Given the description of an element on the screen output the (x, y) to click on. 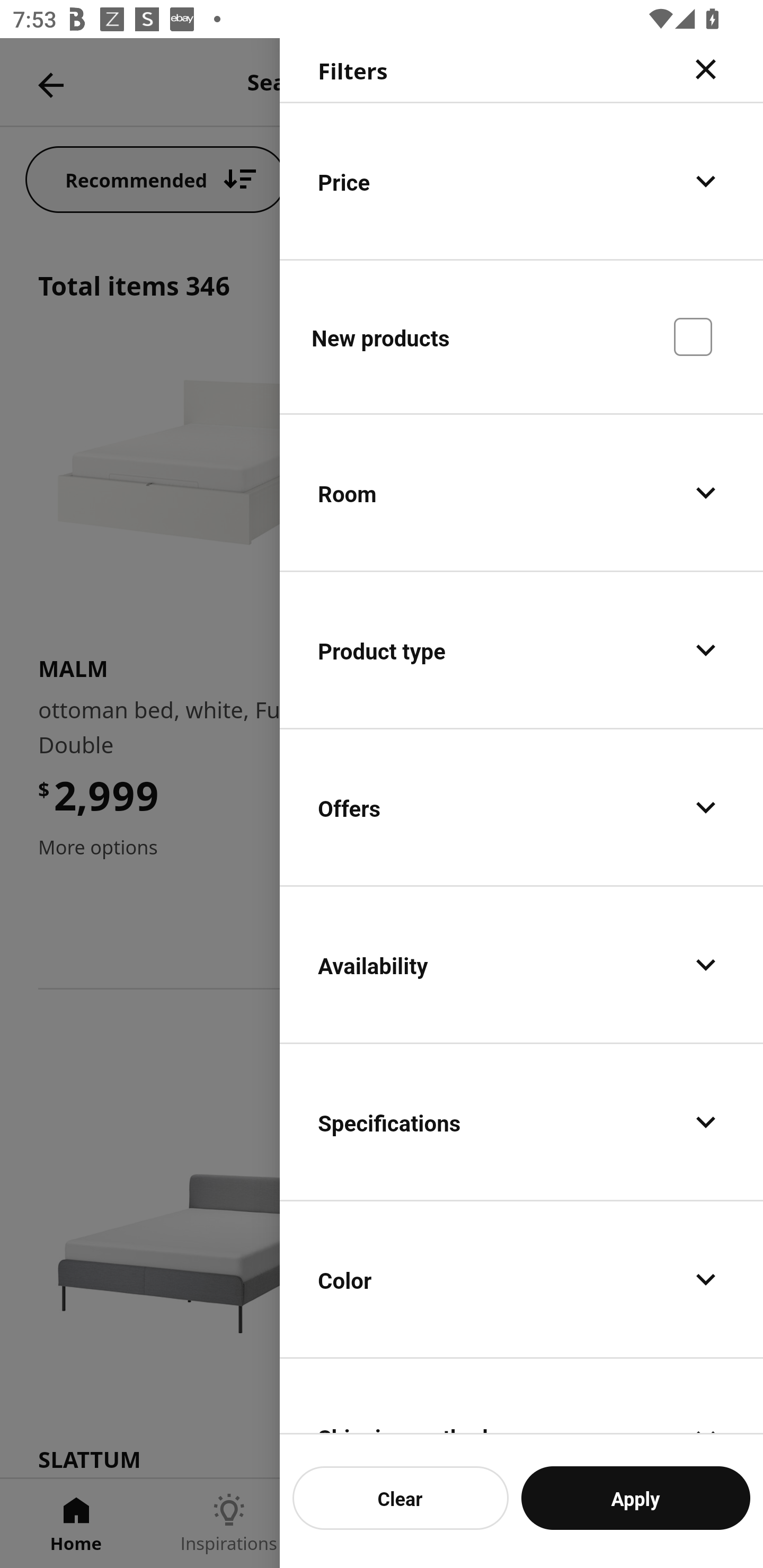
Price (521, 181)
New products (521, 335)
Room (521, 493)
Product type (521, 649)
Offers (521, 807)
Availability (521, 965)
Specifications (521, 1121)
Color (521, 1279)
Clear (400, 1498)
Apply (635, 1498)
